Given the description of an element on the screen output the (x, y) to click on. 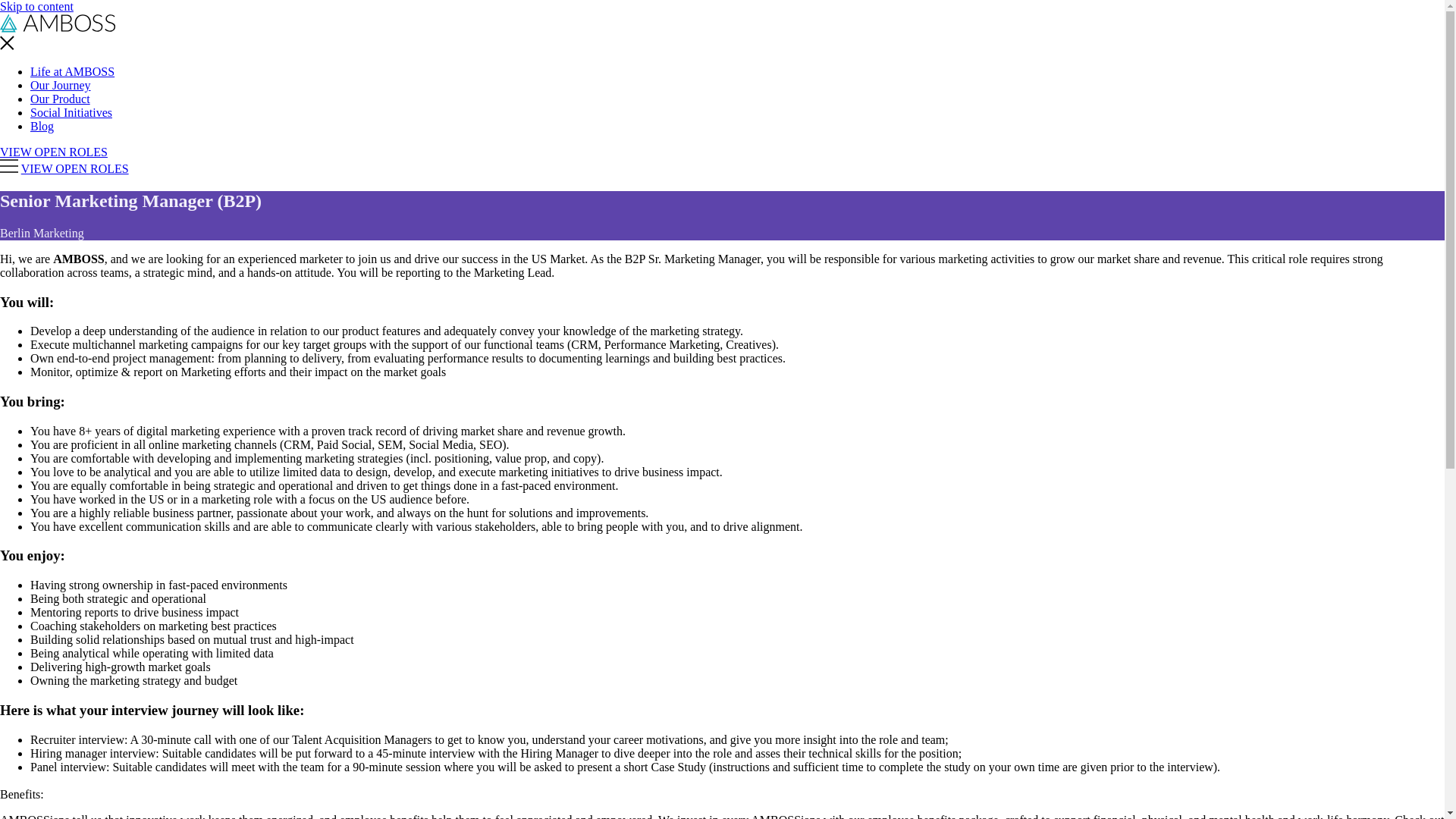
Social Initiatives (71, 112)
Our Product (60, 98)
VIEW OPEN ROLES (53, 151)
Skip to content (37, 6)
Our Journey (60, 84)
VIEW OPEN ROLES (75, 168)
Life at AMBOSS (72, 71)
Blog (41, 125)
